Given the description of an element on the screen output the (x, y) to click on. 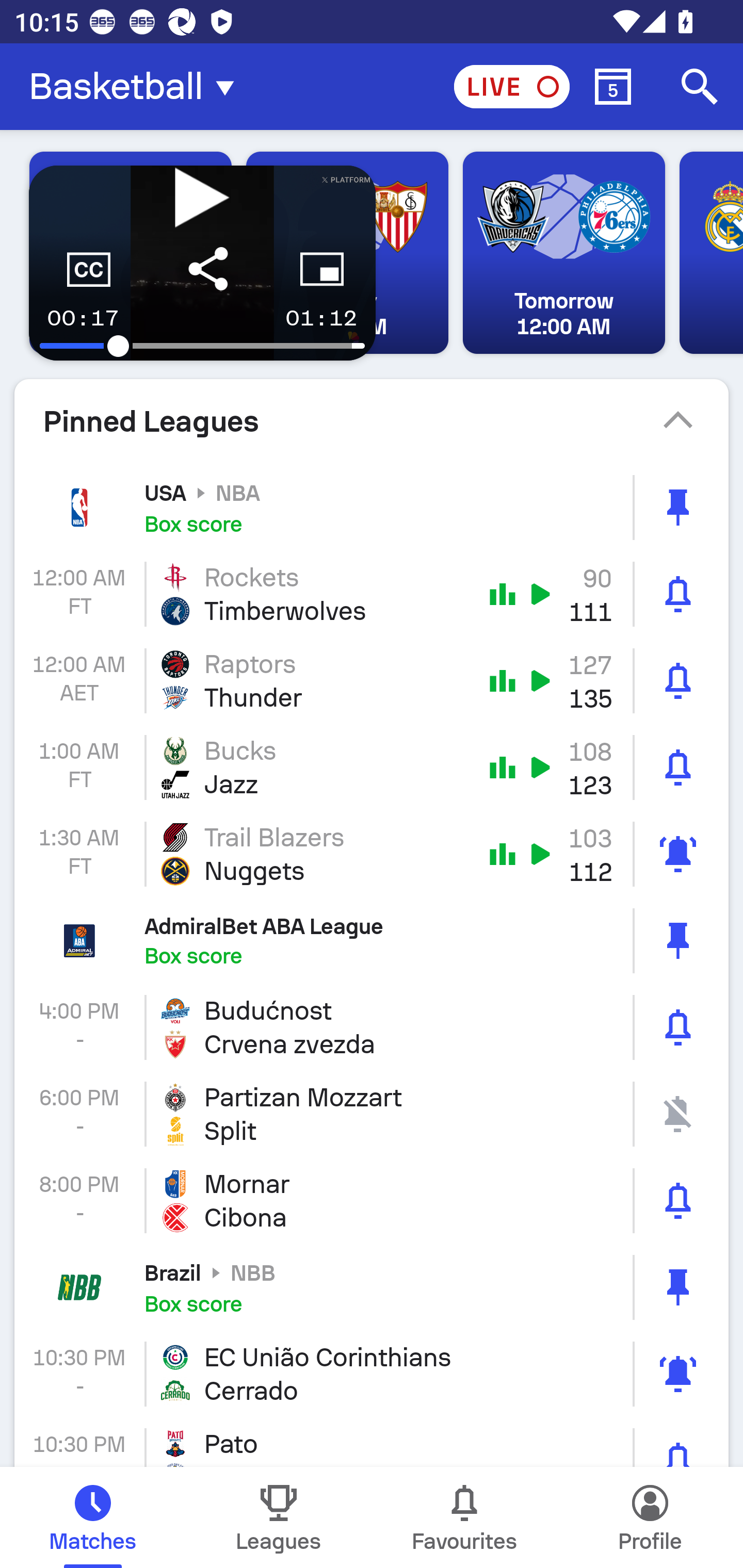
Basketball (137, 86)
Calendar (612, 86)
Search (699, 86)
Tomorrow
12:00 AM (563, 253)
Pinned Leagues (371, 421)
USA NBA Box score (371, 507)
12:00 AM FT Rockets Timberwolves 111 90 (371, 594)
12:00 AM AET Raptors Thunder 127 135 (371, 681)
1:00 AM FT Bucks Jazz 108 123 (371, 767)
1:30 AM FT Trail Blazers Nuggets 103 112 (371, 853)
AdmiralBet ABA League Box score (371, 940)
4:00 PM - Budućnost Crvena zvezda (371, 1027)
6:00 PM - Partizan Mozzart Split (371, 1113)
8:00 PM - Mornar Cibona (371, 1200)
Brazil NBB Box score (371, 1287)
10:30 PM - EC União Corinthians Cerrado (371, 1374)
10:30 PM - Pato São José (371, 1442)
Leagues (278, 1517)
Favourites (464, 1517)
Profile (650, 1517)
